Given the description of an element on the screen output the (x, y) to click on. 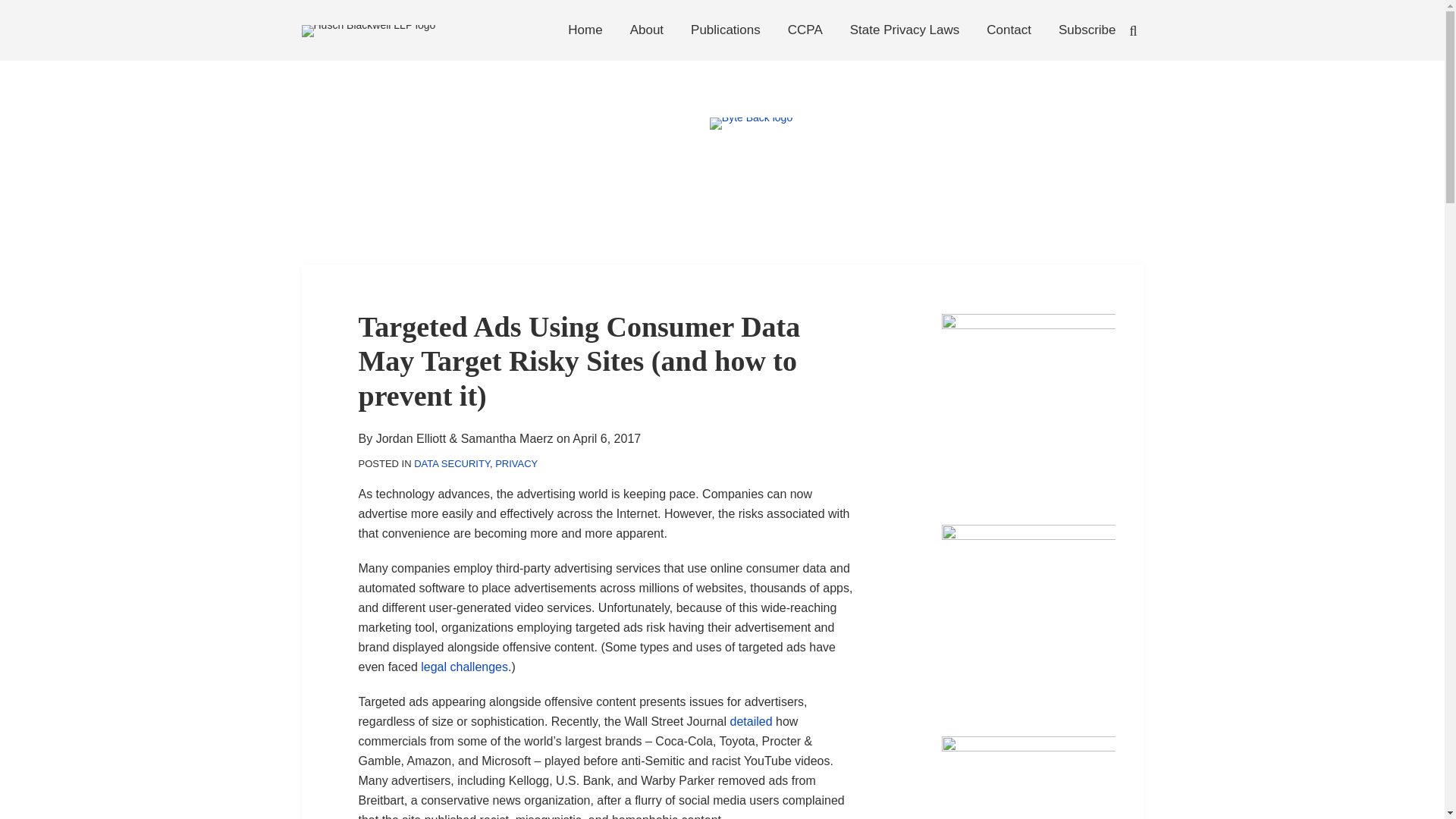
Byte Back (750, 156)
PRIVACY (516, 463)
DATA SECURITY (451, 463)
State Privacy Laws (904, 30)
CCPA (804, 30)
detailed (750, 721)
Publications (725, 30)
About (646, 30)
legal challenges (464, 666)
Subscribe (1087, 30)
